Given the description of an element on the screen output the (x, y) to click on. 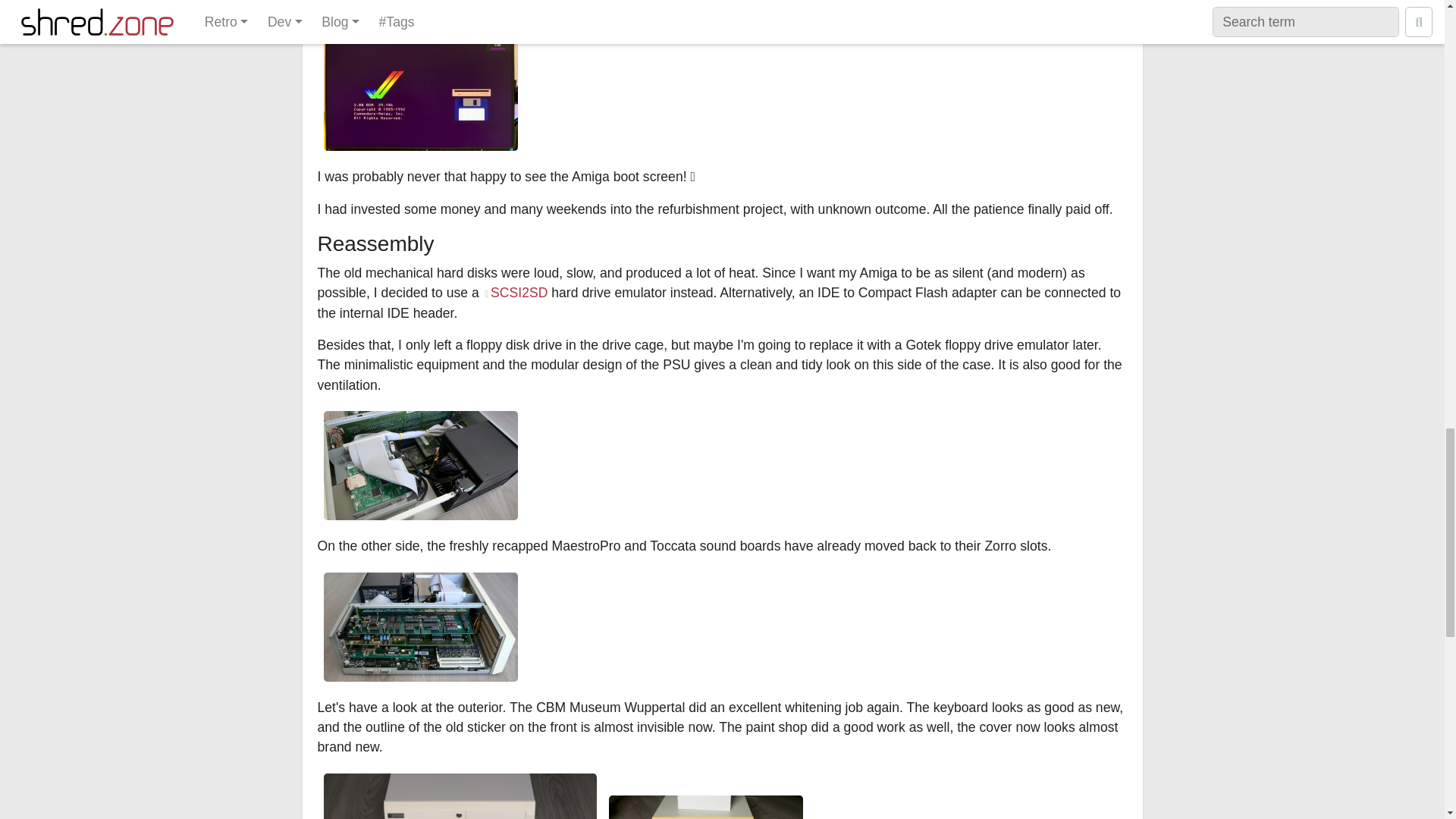
SCSI2SD (515, 292)
